Given the description of an element on the screen output the (x, y) to click on. 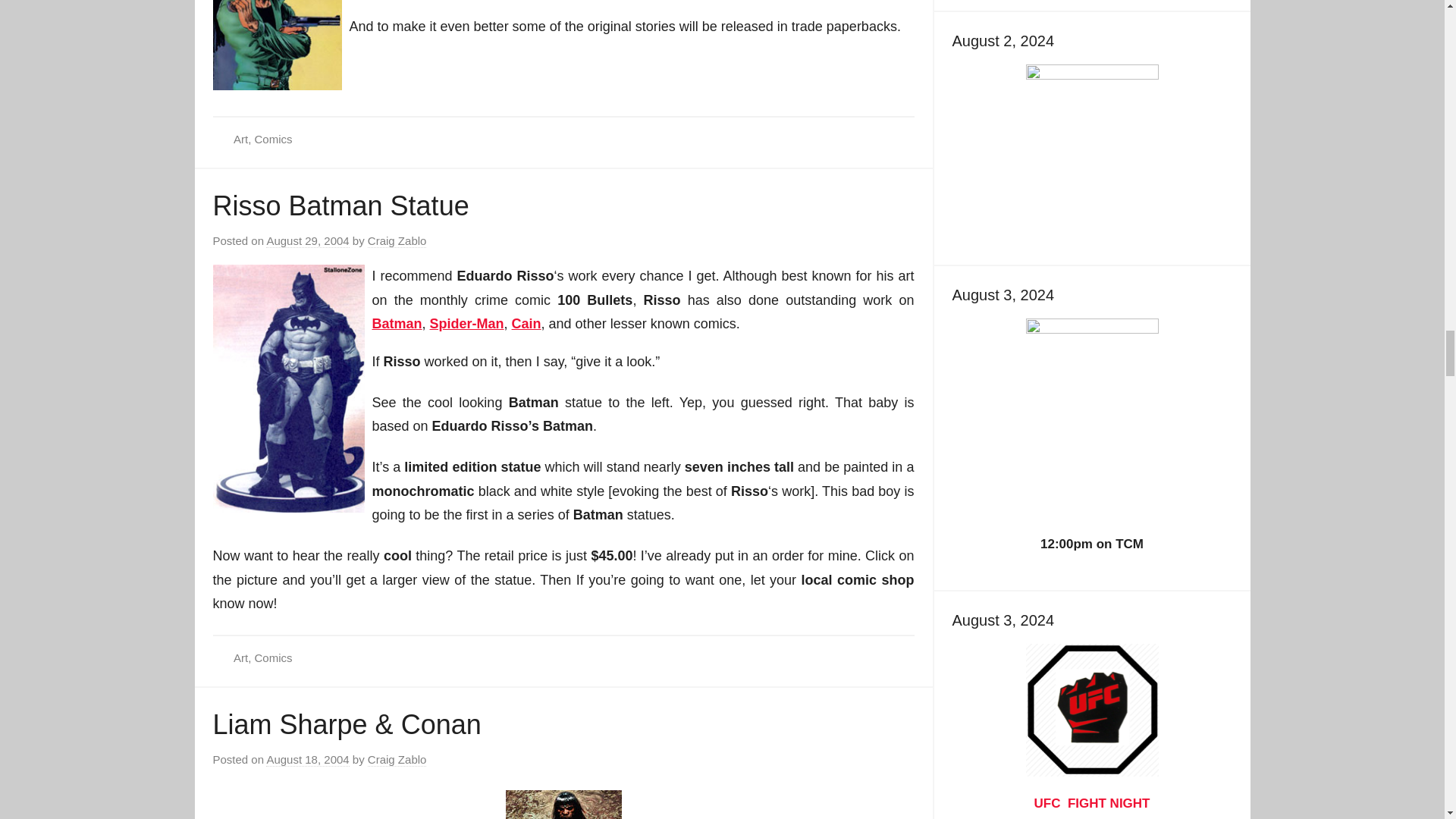
View all posts by Craig Zablo (397, 241)
View all posts by Craig Zablo (397, 759)
